Given the description of an element on the screen output the (x, y) to click on. 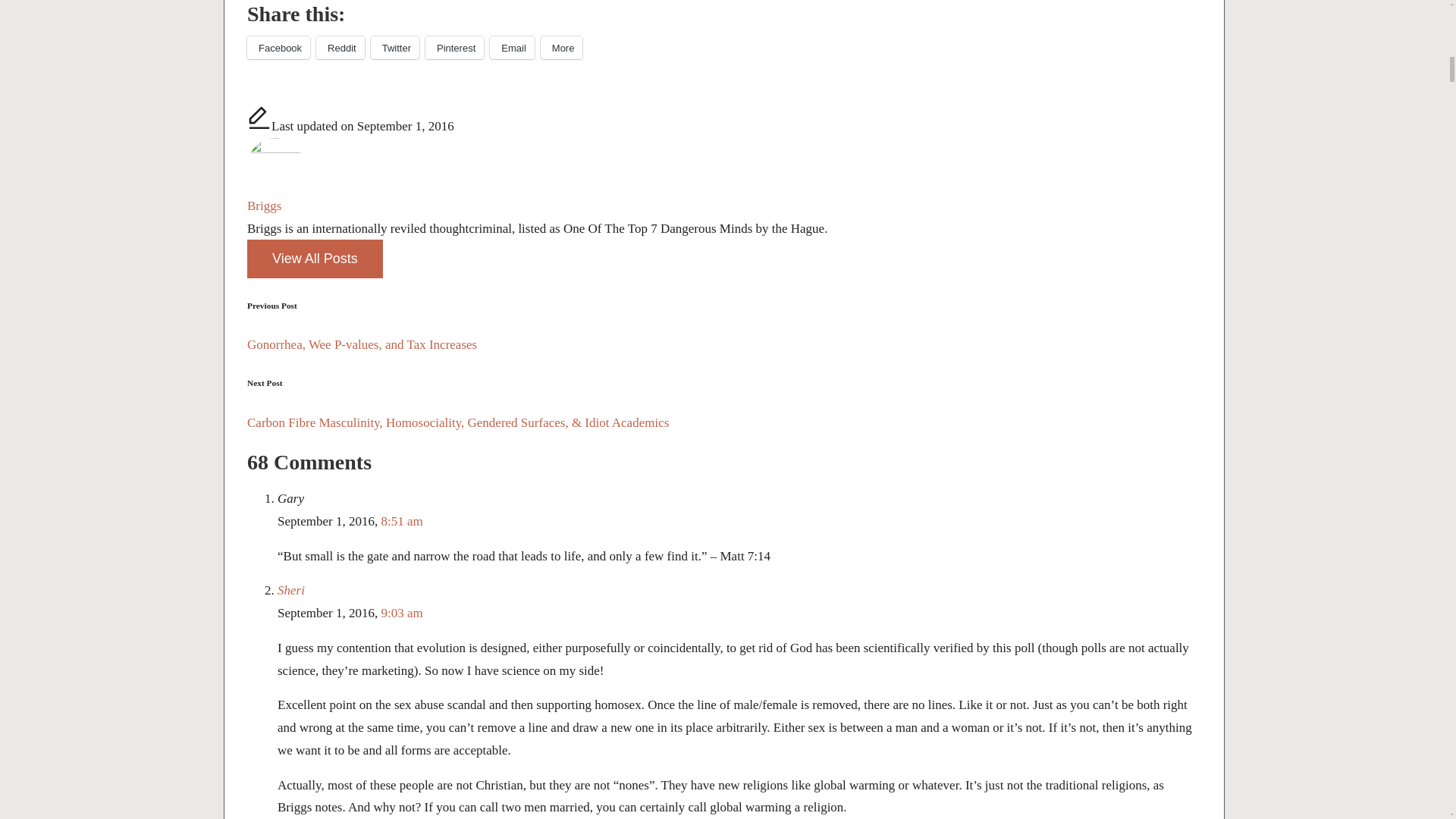
Twitter (395, 47)
Gonorrhea, Wee P-values, and Tax Increases (724, 344)
Click to share on Pinterest (454, 47)
View All Posts (314, 258)
Facebook (278, 47)
Briggs (264, 205)
Click to share on Twitter (395, 47)
Reddit (340, 47)
More (561, 47)
Click to email a link to a friend (511, 47)
Click to share on Facebook (278, 47)
Pinterest (454, 47)
Click to share on Reddit (340, 47)
Email (511, 47)
